Given the description of an element on the screen output the (x, y) to click on. 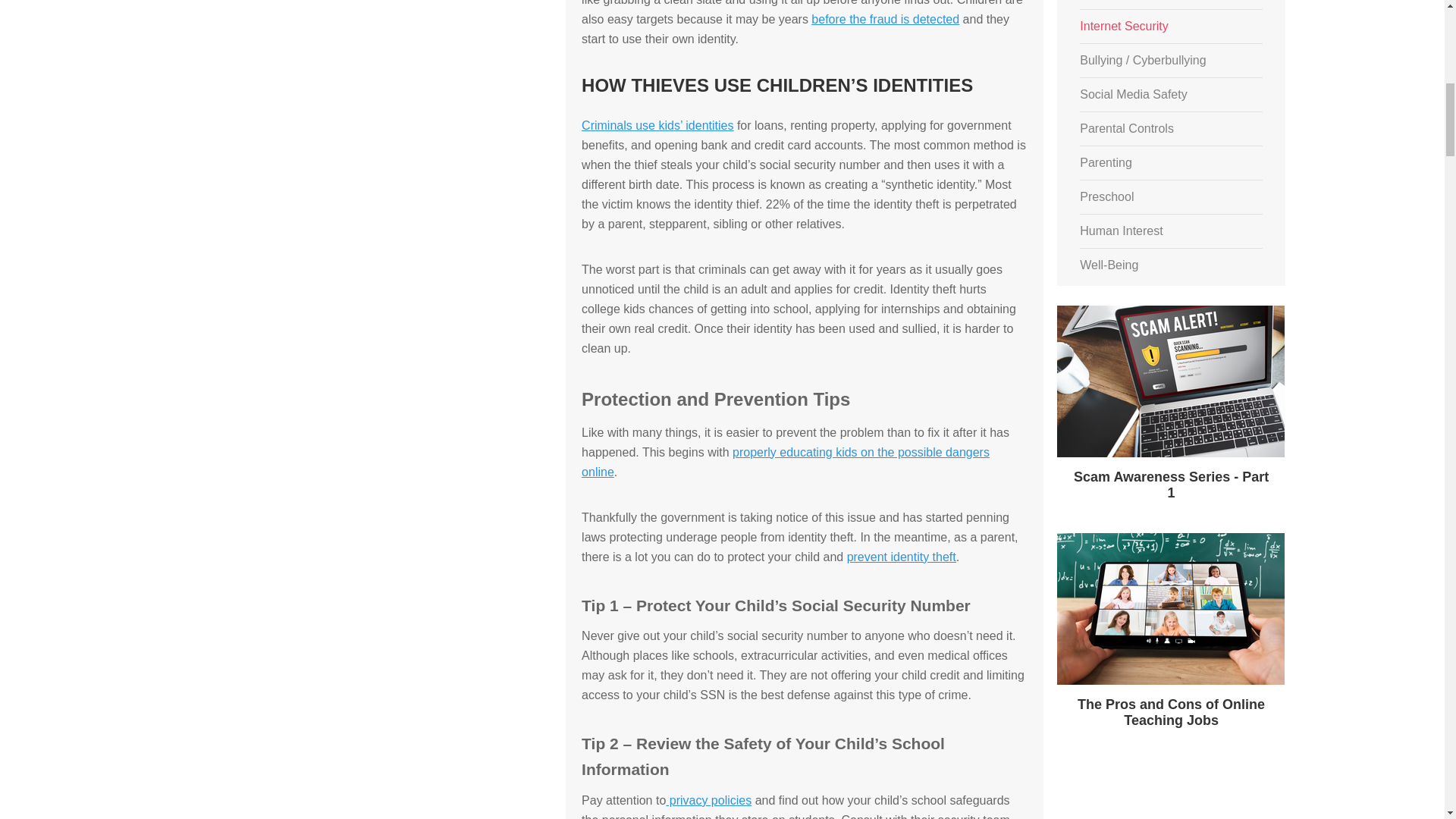
Online Safety for Kids (1138, 4)
properly educating kids on the possible dangers online (785, 461)
Internet Security (1124, 26)
privacy policies (708, 799)
before the fraud is detected (884, 18)
Social Media Safety (1133, 94)
prevent identity theft (901, 556)
